Given the description of an element on the screen output the (x, y) to click on. 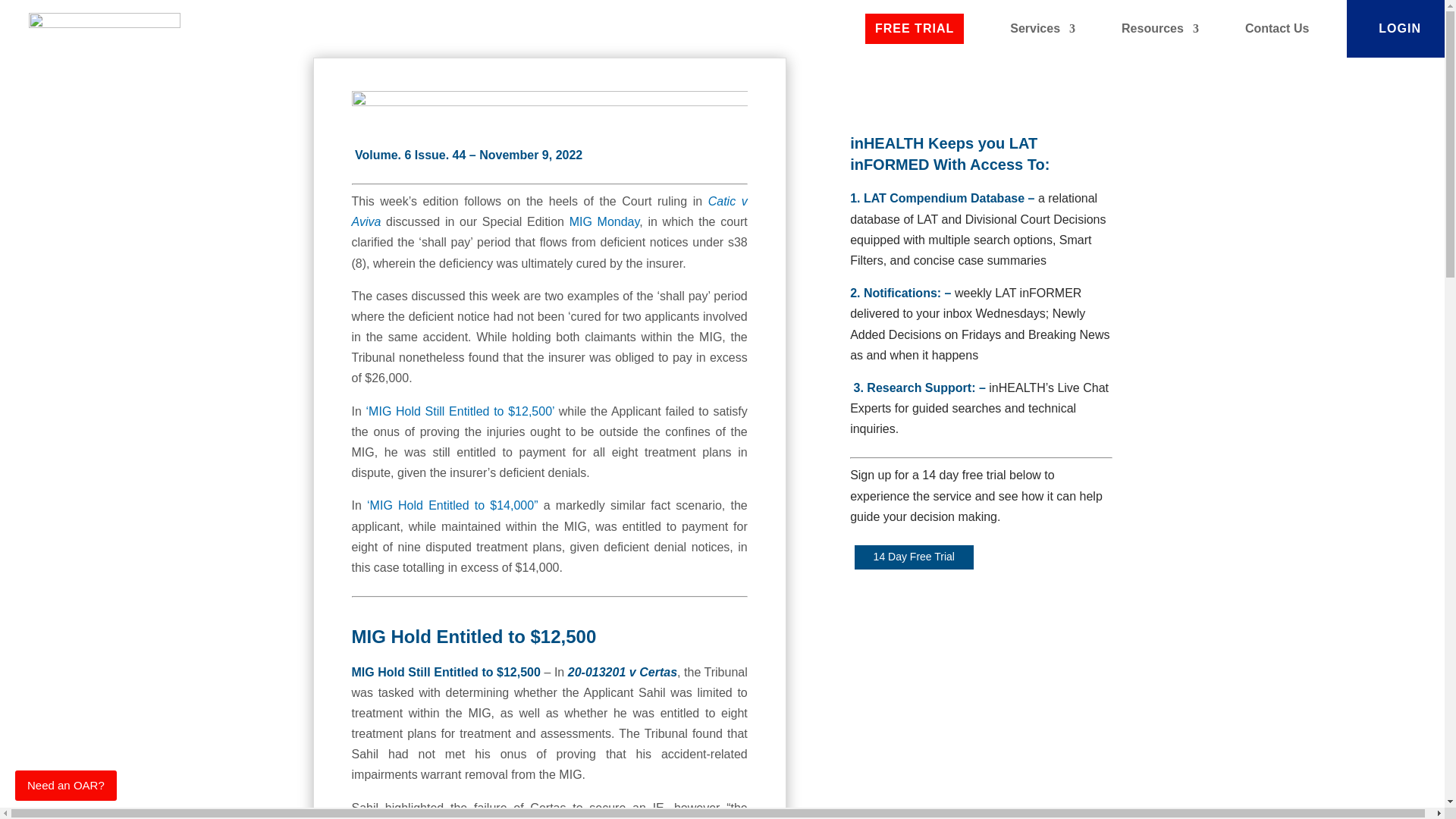
Contact Us (1276, 28)
Services (1042, 28)
Catic v Aviva (550, 211)
FREE TRIAL (913, 28)
MIG Monday (604, 221)
Resources (1159, 28)
